Given the description of an element on the screen output the (x, y) to click on. 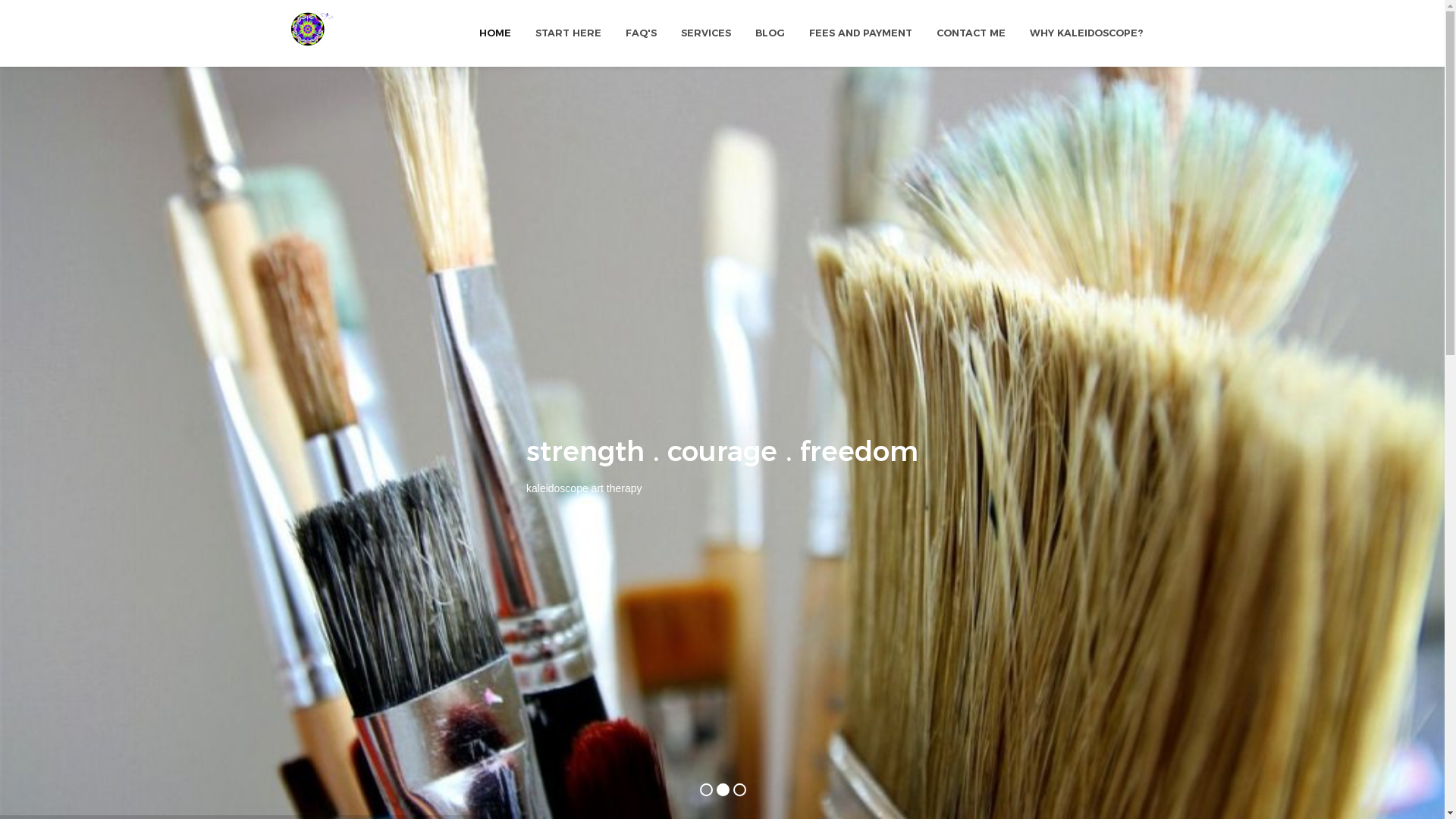
FAQ'S Element type: text (640, 33)
SERVICES Element type: text (705, 33)
FEES AND PAYMENT Element type: text (859, 33)
BLOG Element type: text (770, 33)
WHY KALEIDOSCOPE? Element type: text (1085, 33)
CONTACT ME Element type: text (969, 33)
START HERE Element type: text (568, 33)
HOME Element type: text (495, 33)
